Given the description of an element on the screen output the (x, y) to click on. 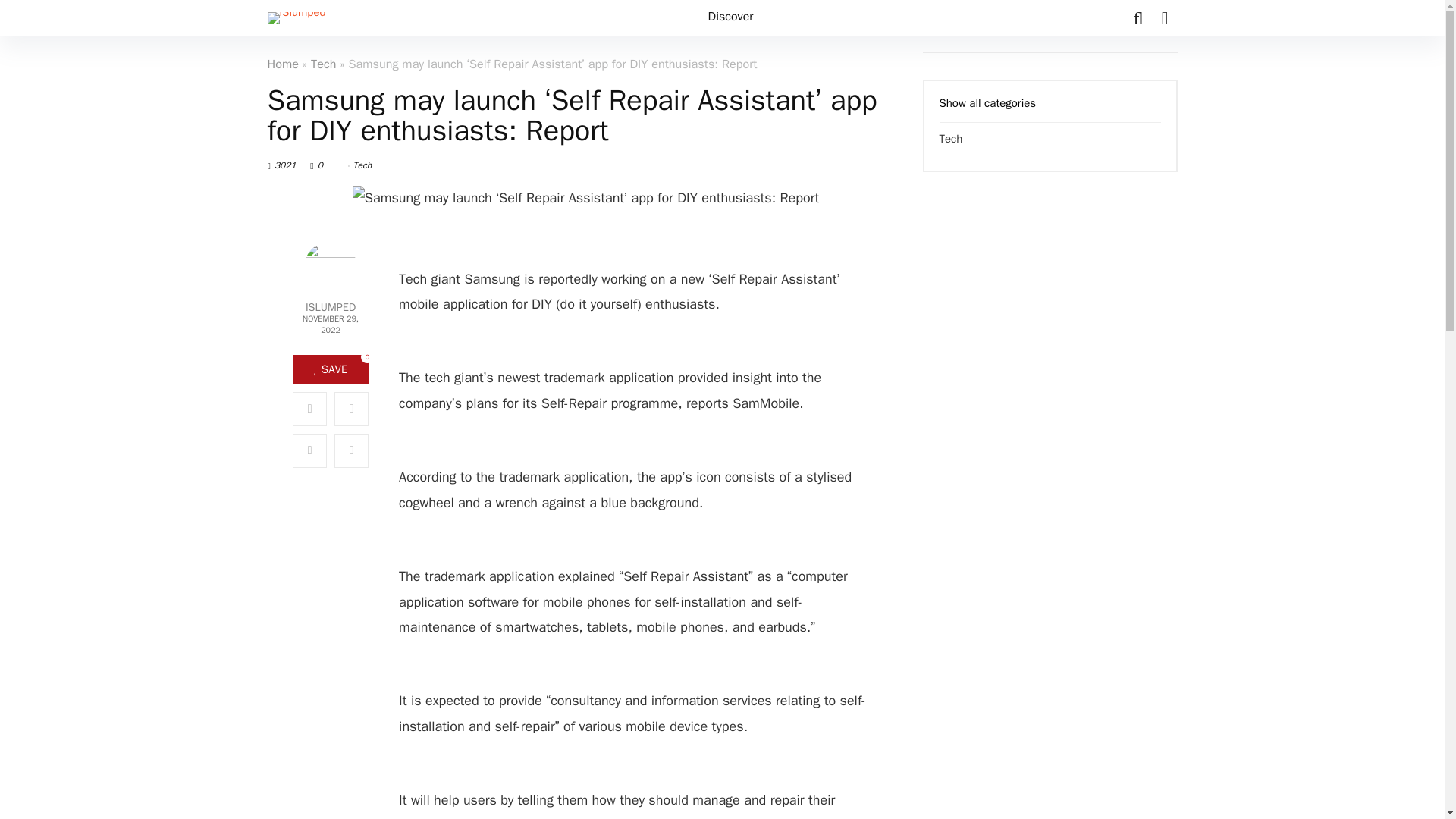
Home (282, 64)
View all posts in Tech (362, 164)
Tech (362, 164)
Tech (323, 64)
ISLUMPED (330, 307)
Discover (730, 18)
0 (325, 164)
